Given the description of an element on the screen output the (x, y) to click on. 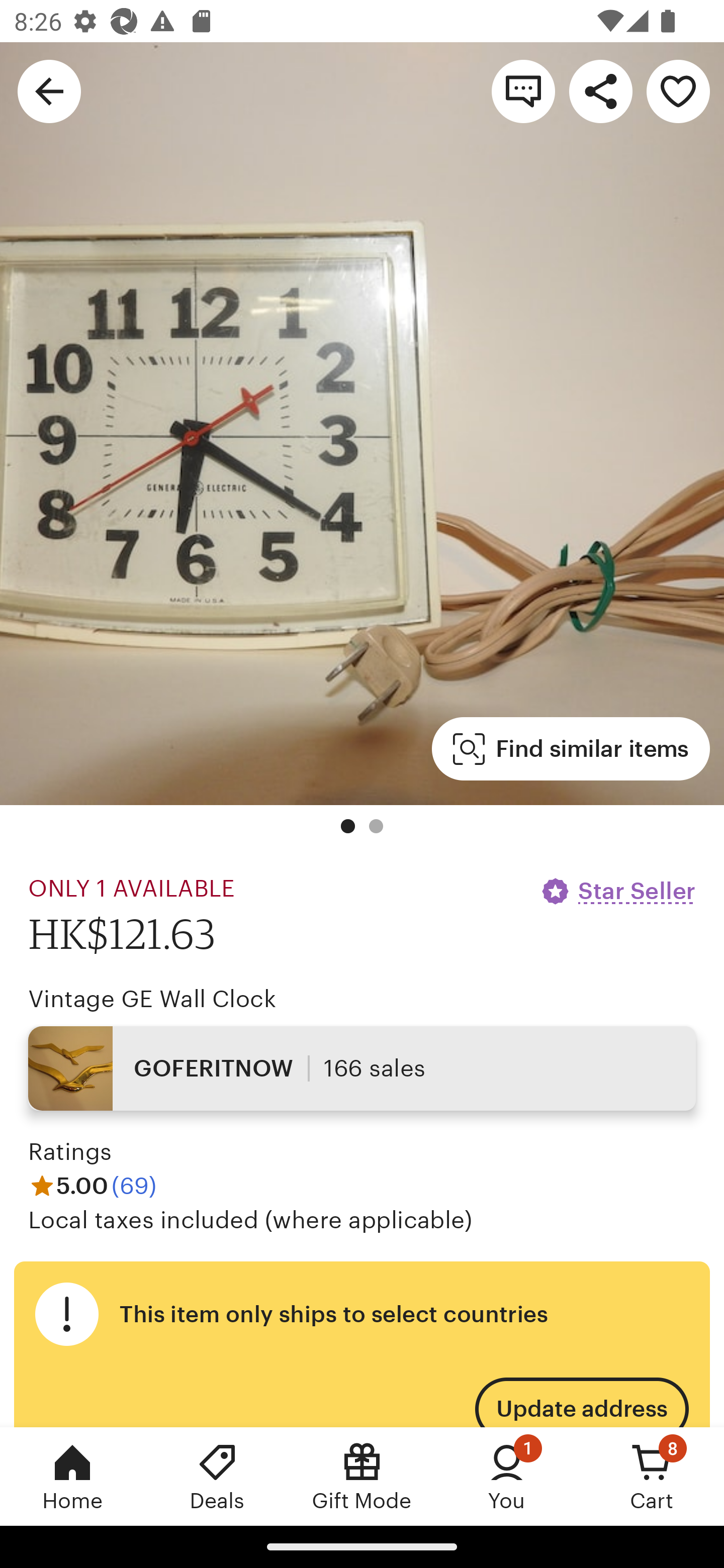
Navigate up (49, 90)
Contact shop (523, 90)
Share (600, 90)
Remove Vintage GE Wall Clock from your favorites (678, 90)
Find similar items (571, 748)
Star Seller (617, 890)
Vintage GE Wall Clock (152, 999)
GOFERITNOW 166 sales (361, 1067)
Ratings (70, 1151)
5.00 (69) (92, 1185)
Update address (581, 1396)
Deals (216, 1475)
Gift Mode (361, 1475)
You, 1 new notification You (506, 1475)
Cart, 8 new notifications Cart (651, 1475)
